Given the description of an element on the screen output the (x, y) to click on. 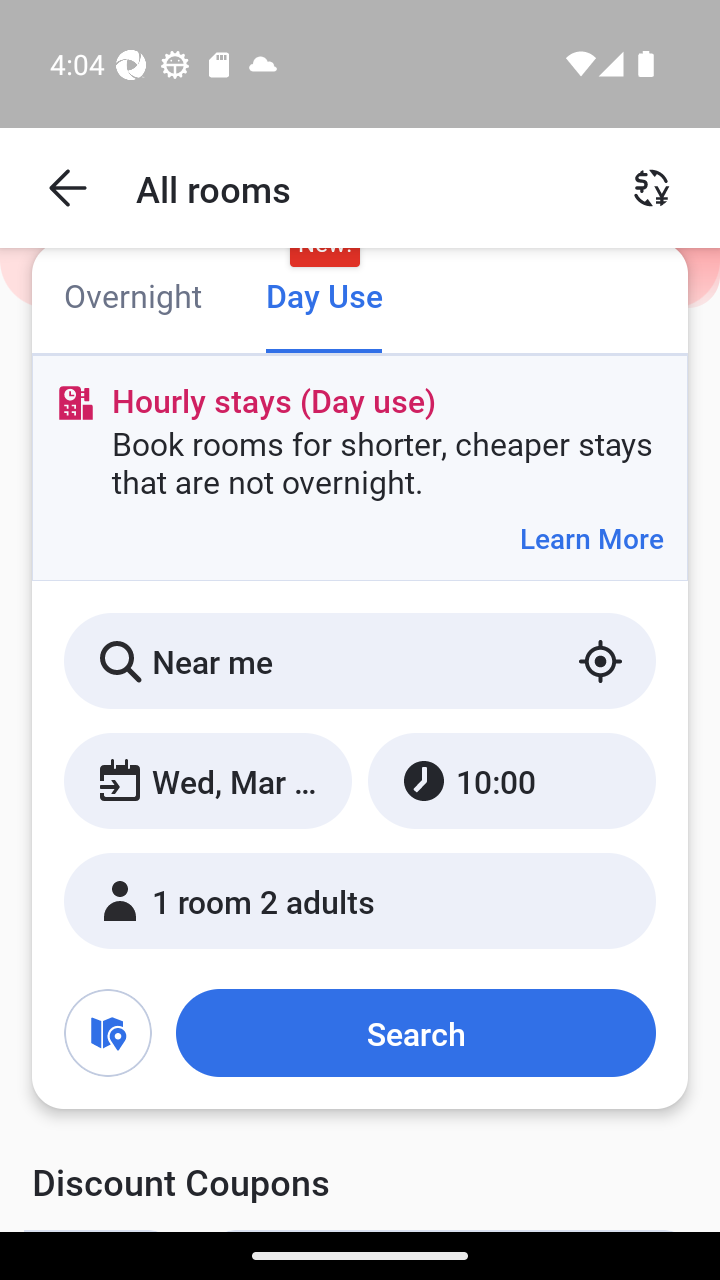
Overnight (132, 298)
Learn More (591, 538)
Near me (359, 661)
Wed, Mar 13 (208, 781)
10:00 (511, 781)
1 room 2 adults (359, 900)
Search (415, 1033)
